Given the description of an element on the screen output the (x, y) to click on. 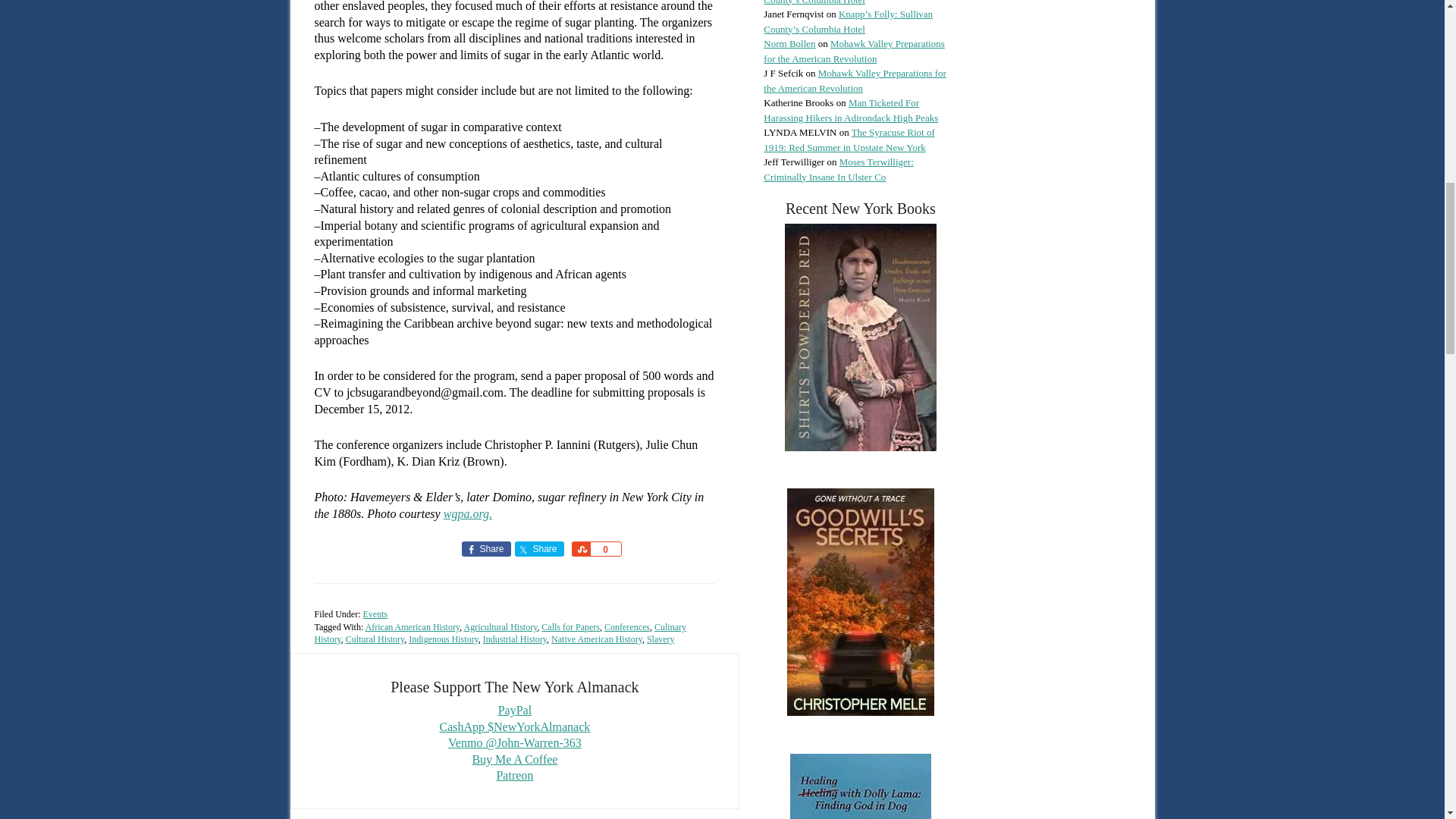
0 (605, 548)
Share (538, 548)
African American History (412, 626)
Share (486, 548)
wgpa.org. (468, 513)
Events (374, 614)
Share (580, 548)
